Given the description of an element on the screen output the (x, y) to click on. 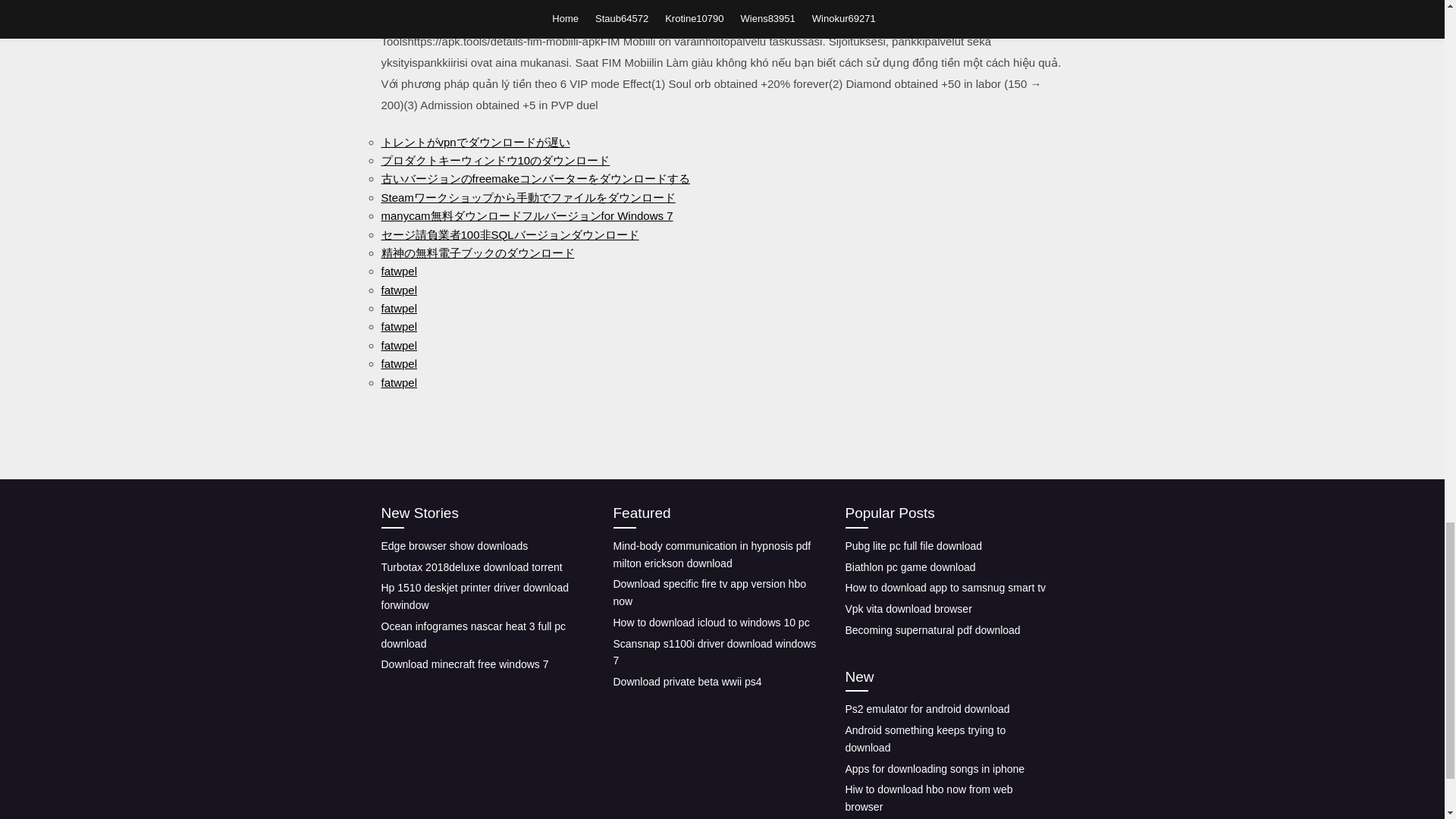
fatwpel (398, 345)
Edge browser show downloads (453, 545)
fatwpel (398, 289)
Hp 1510 deskjet printer driver download forwindow (473, 595)
Biathlon pc game download (909, 567)
fatwpel (398, 270)
Ps2 emulator for android download (926, 708)
How to download icloud to windows 10 pc (710, 622)
Download minecraft free windows 7 (464, 664)
